Given the description of an element on the screen output the (x, y) to click on. 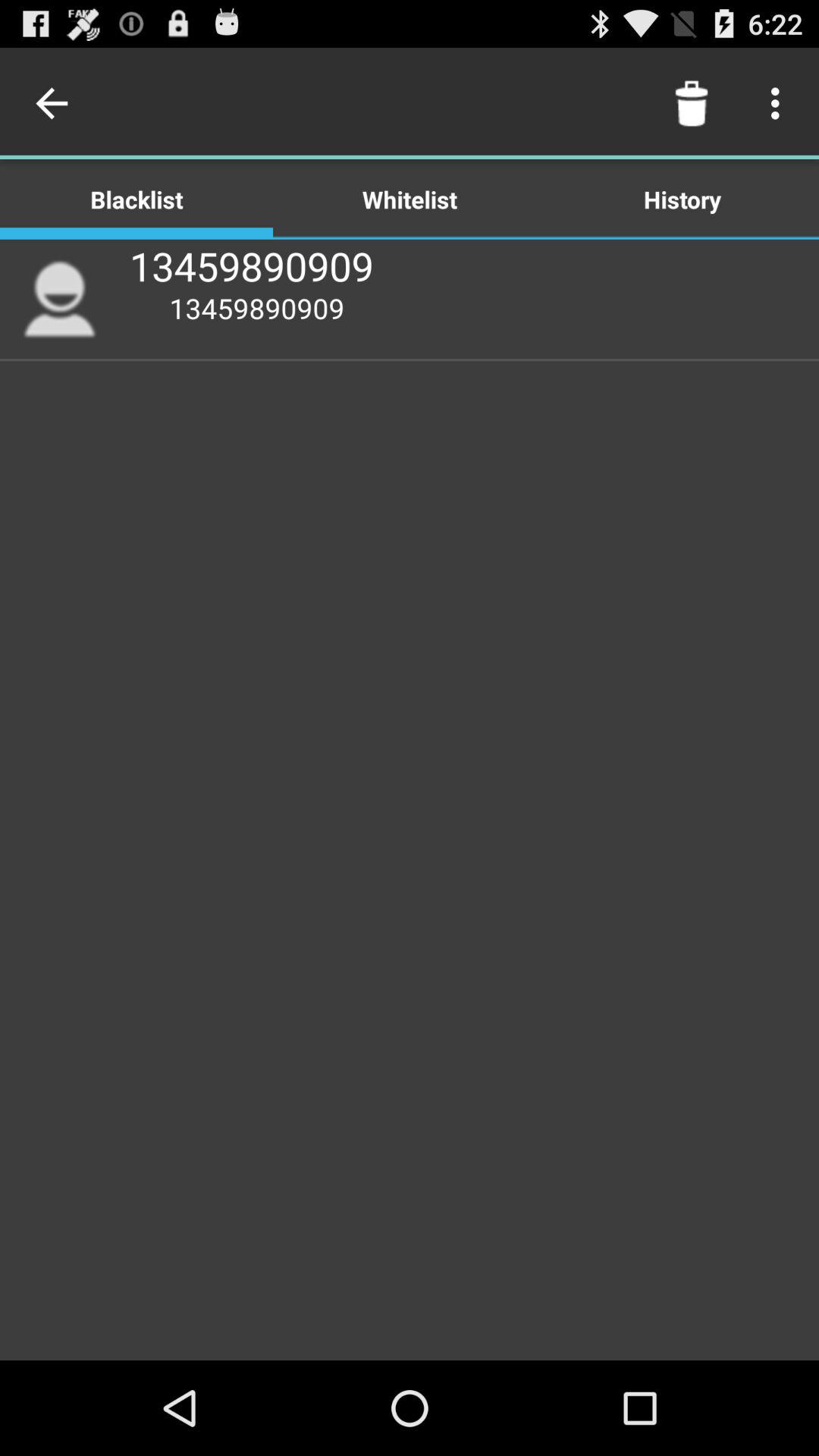
press icon to the right of whitelist icon (691, 103)
